Given the description of an element on the screen output the (x, y) to click on. 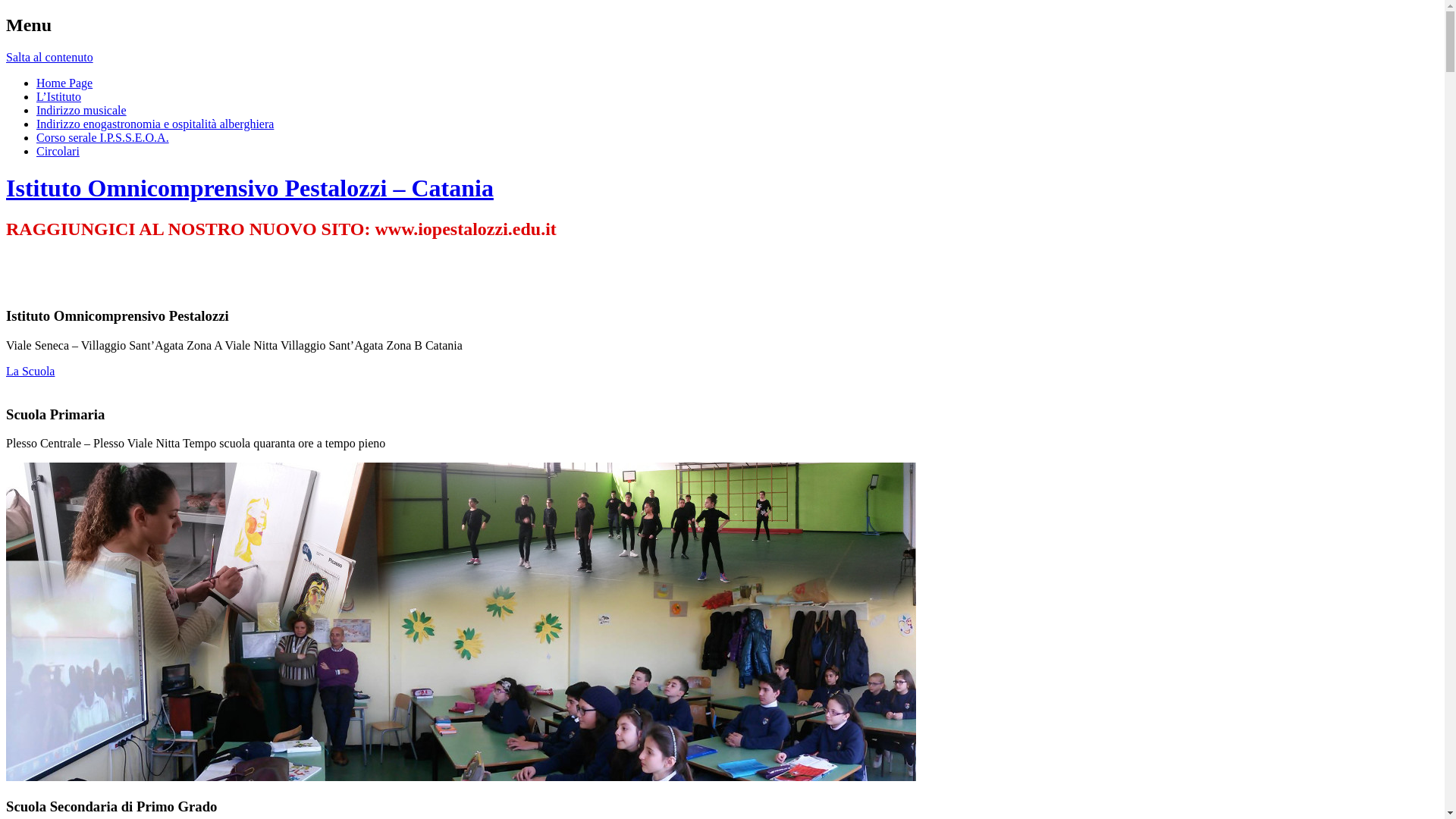
Circolari Element type: text (57, 150)
Indirizzo musicale Element type: text (81, 109)
Corso serale I.P.S.S.E.O.A. Element type: text (102, 137)
Home Page Element type: text (64, 82)
Salta al contenuto Element type: text (49, 56)
La Scuola Element type: text (30, 370)
